Given the description of an element on the screen output the (x, y) to click on. 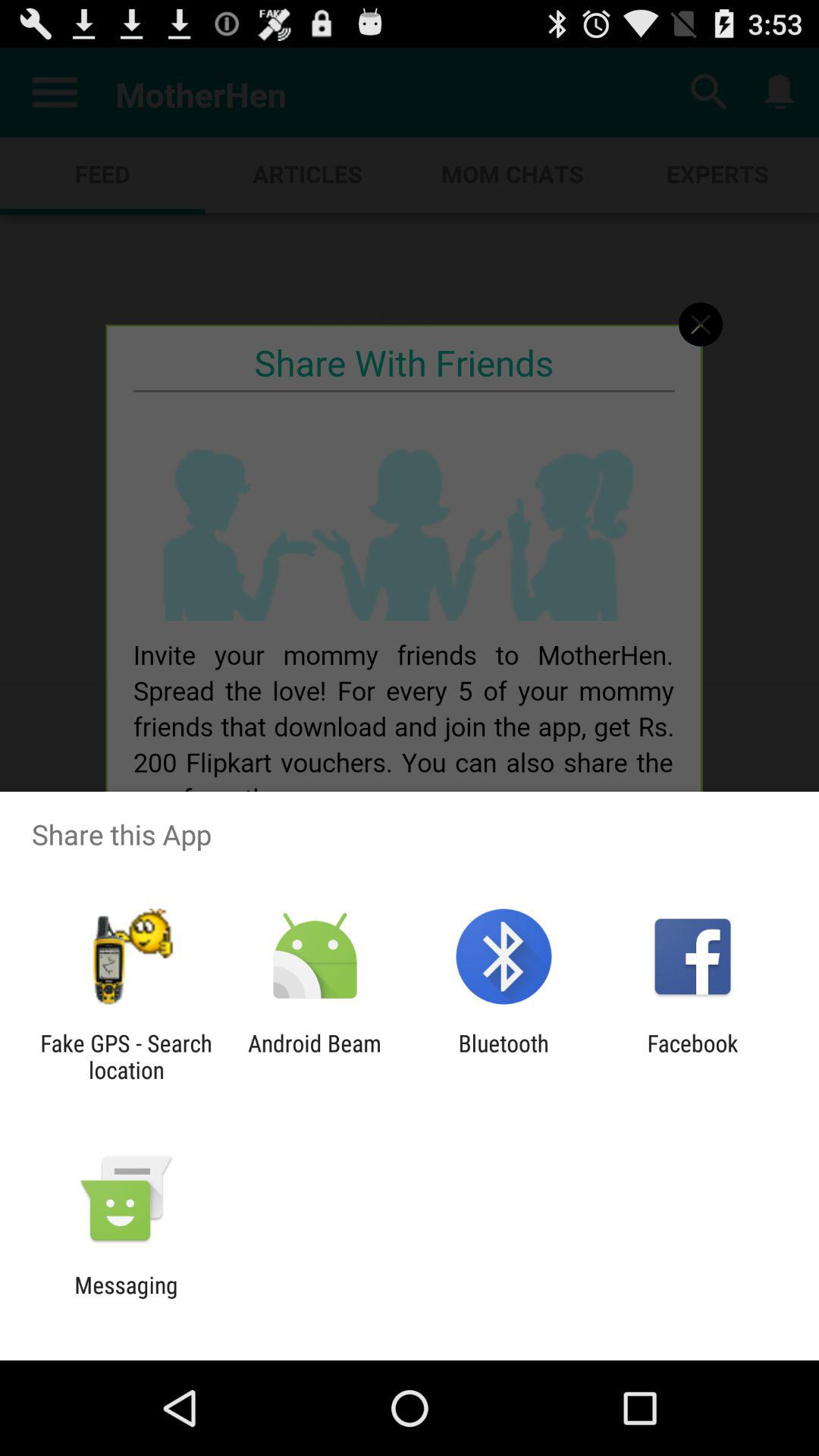
launch the bluetooth icon (503, 1056)
